Given the description of an element on the screen output the (x, y) to click on. 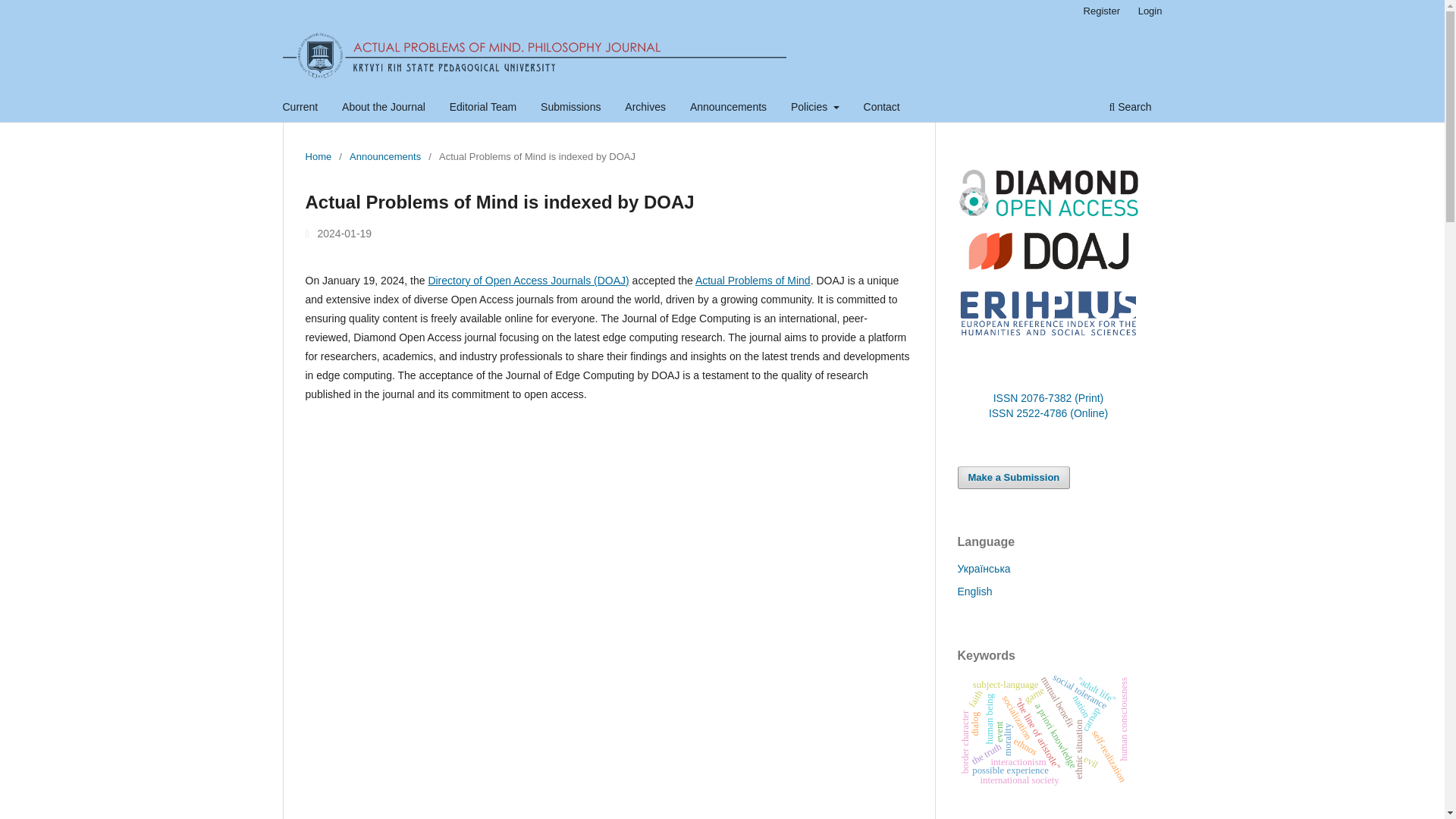
Current (300, 108)
Home (317, 156)
Indexed in ERIH-PLUS (1047, 337)
Policies (815, 108)
Announcements (384, 156)
Announcements (727, 108)
Editorial Team (482, 108)
Search (1129, 108)
Submissions (570, 108)
